Given the description of an element on the screen output the (x, y) to click on. 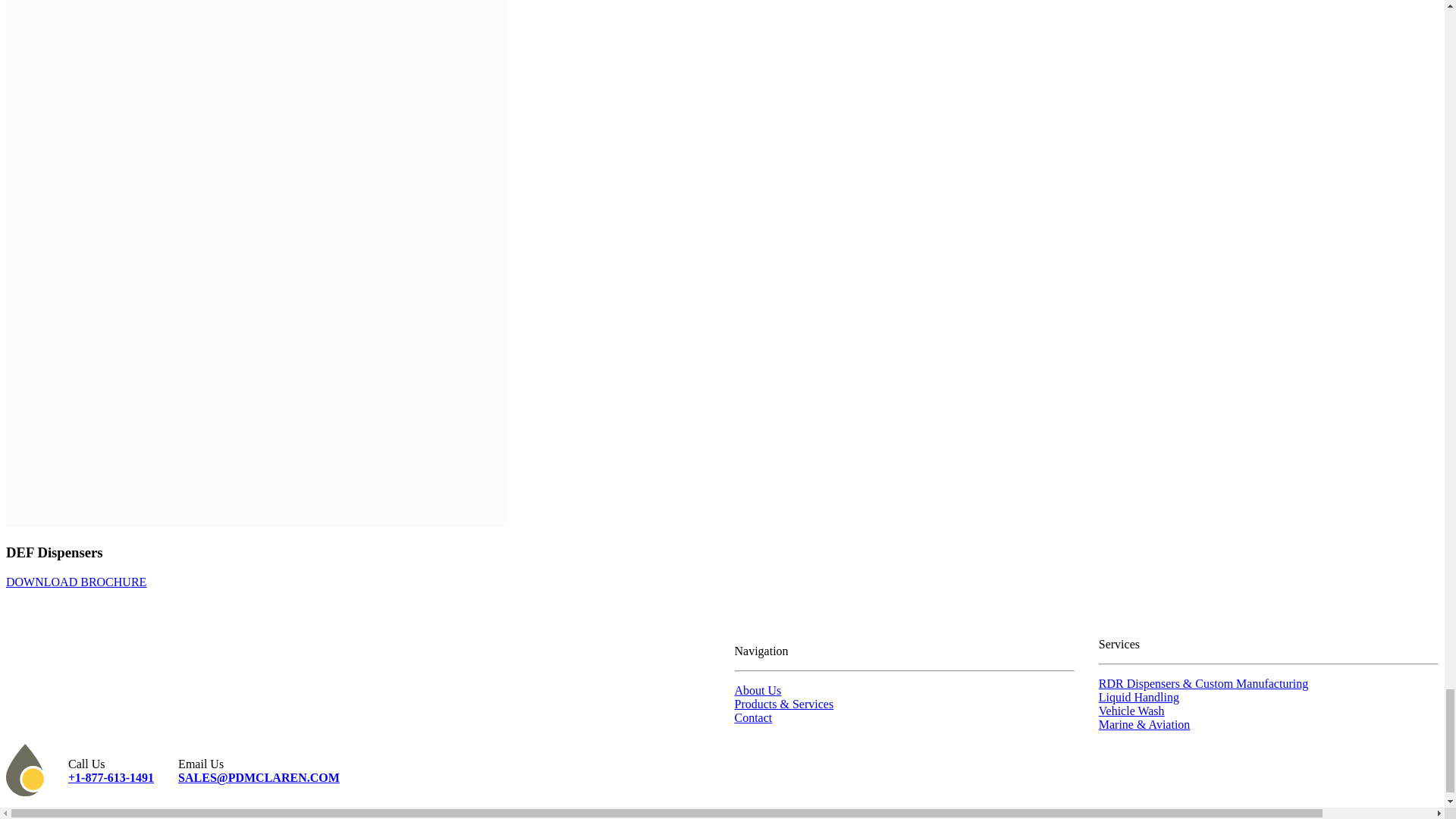
Contact (752, 717)
DOWNLOAD BROCHURE (76, 581)
Liquid Handling (1139, 697)
About Us (756, 689)
Vehicle Wash (1131, 710)
